Given the description of an element on the screen output the (x, y) to click on. 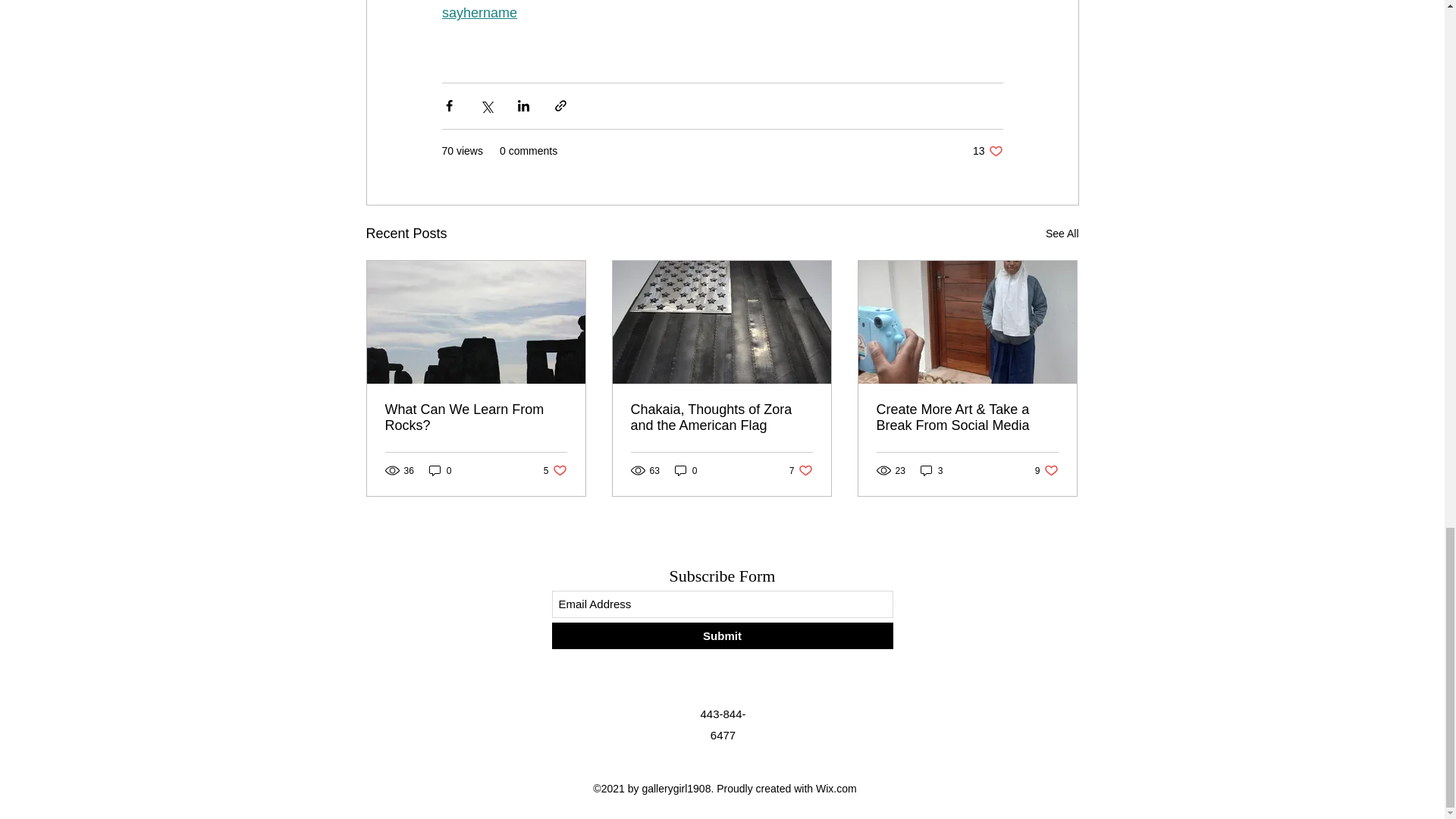
Chakaia, Thoughts of Zora and the American Flag (1046, 470)
What Can We Learn From Rocks? (721, 418)
Submit (476, 418)
3 (722, 634)
See All (800, 470)
0 (931, 470)
